Given the description of an element on the screen output the (x, y) to click on. 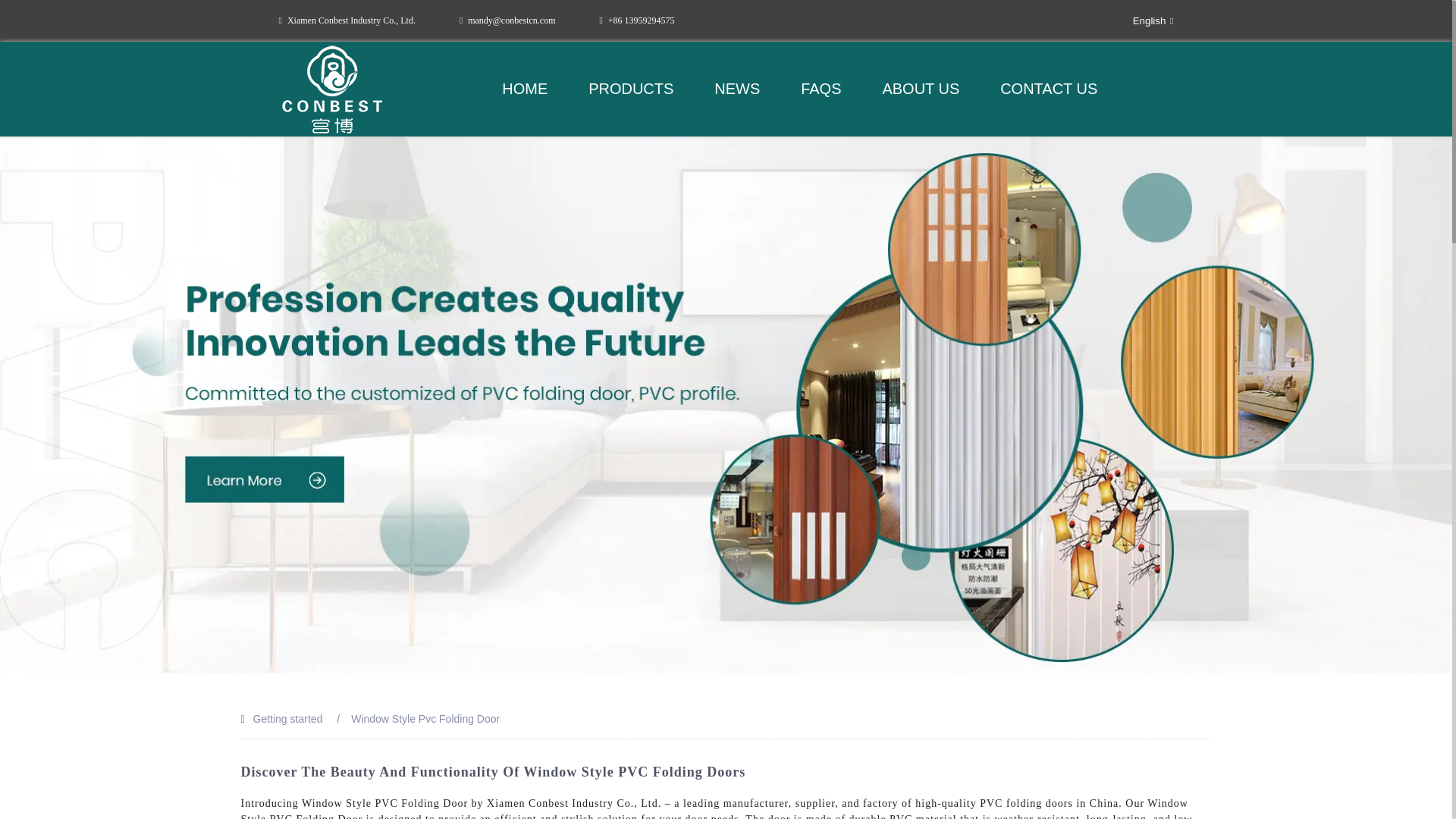
Window Style Pvc Folding Door (424, 718)
CONTACT US (1048, 88)
PRODUCTS (630, 88)
English (1140, 20)
Getting started (288, 718)
